Given the description of an element on the screen output the (x, y) to click on. 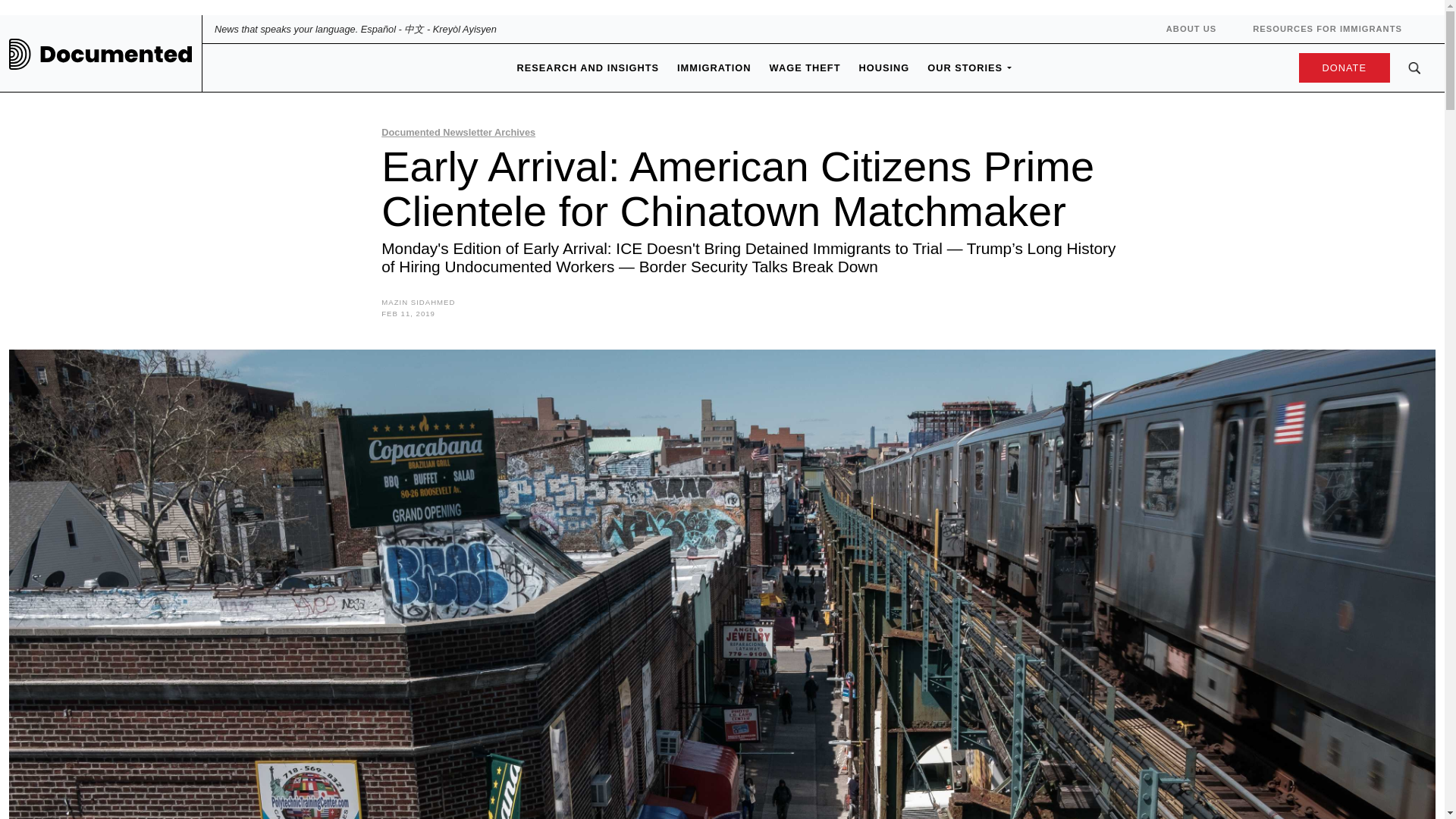
HOUSING (883, 67)
RESEARCH AND INSIGHTS (587, 67)
RESOURCES FOR IMMIGRANTS (1327, 28)
DONATE (1340, 67)
ABOUT US (1190, 28)
IMMIGRATION (714, 67)
OUR STORIES (965, 67)
WAGE THEFT (805, 67)
